Given the description of an element on the screen output the (x, y) to click on. 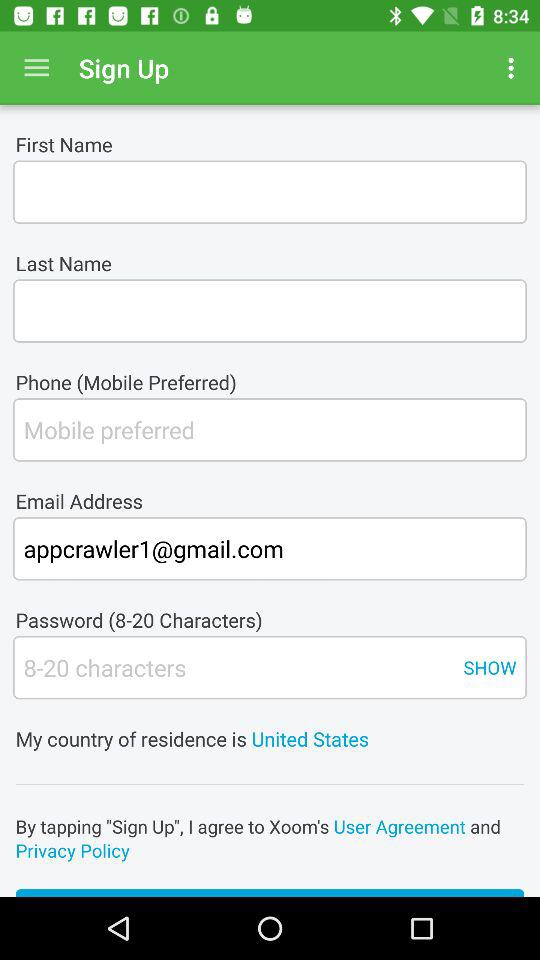
click icon above my country of (489, 667)
